Given the description of an element on the screen output the (x, y) to click on. 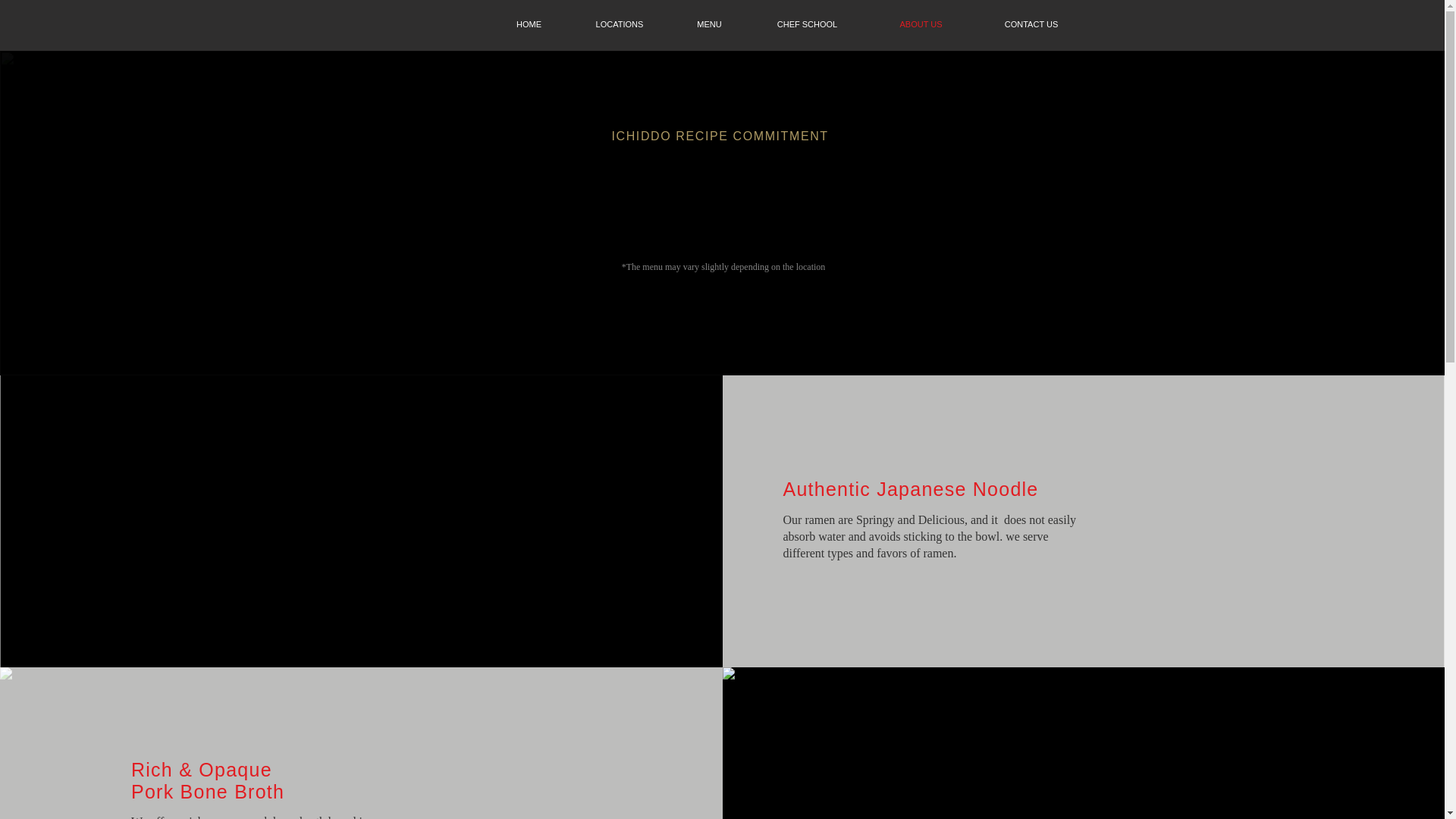
LOCATIONS (619, 24)
MENU (709, 24)
HOME (528, 24)
ABOUT US (921, 24)
CHEF SCHOOL (807, 24)
CONTACT US (1031, 24)
